Given the description of an element on the screen output the (x, y) to click on. 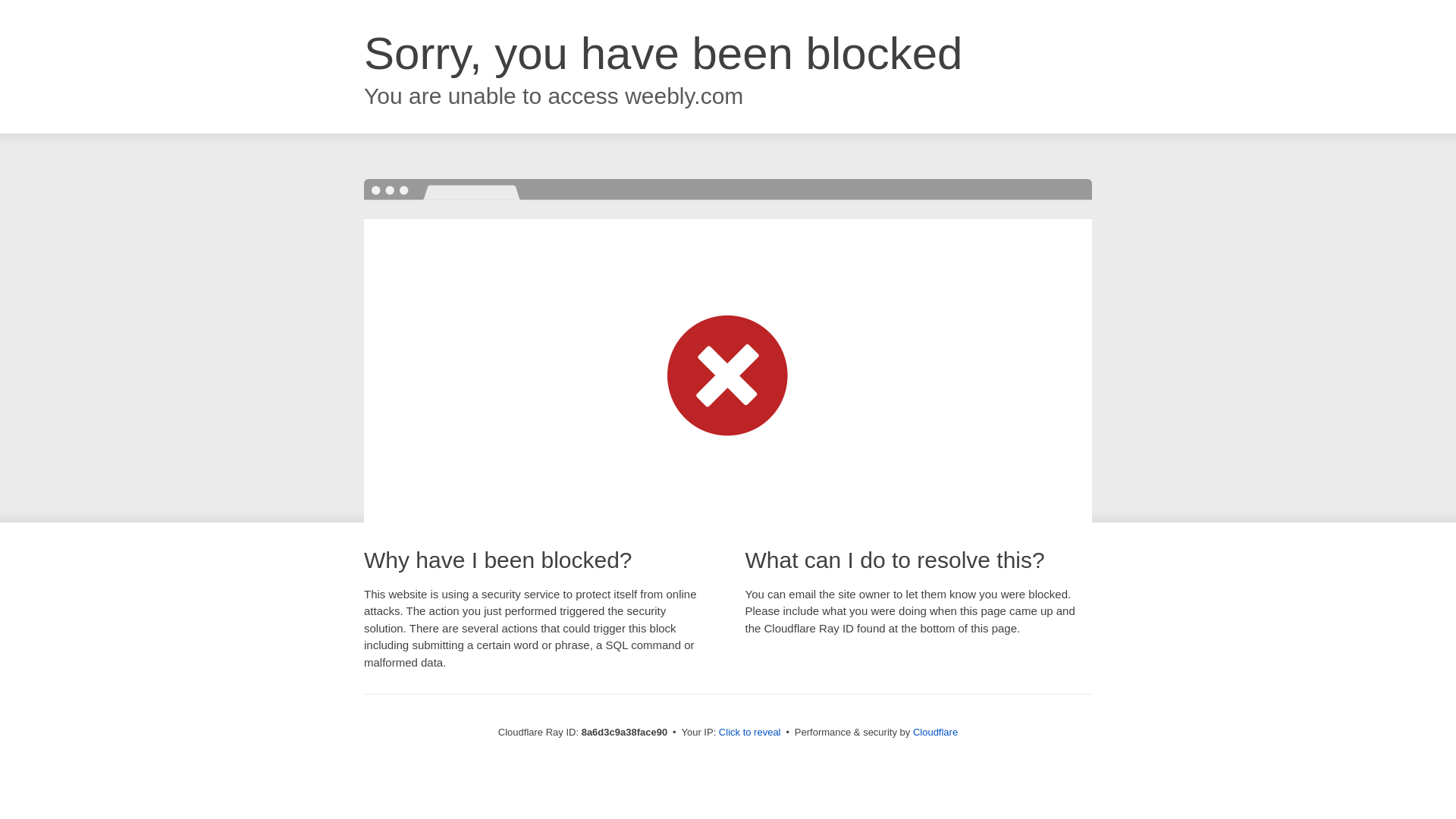
Cloudflare (935, 731)
Click to reveal (749, 732)
